Given the description of an element on the screen output the (x, y) to click on. 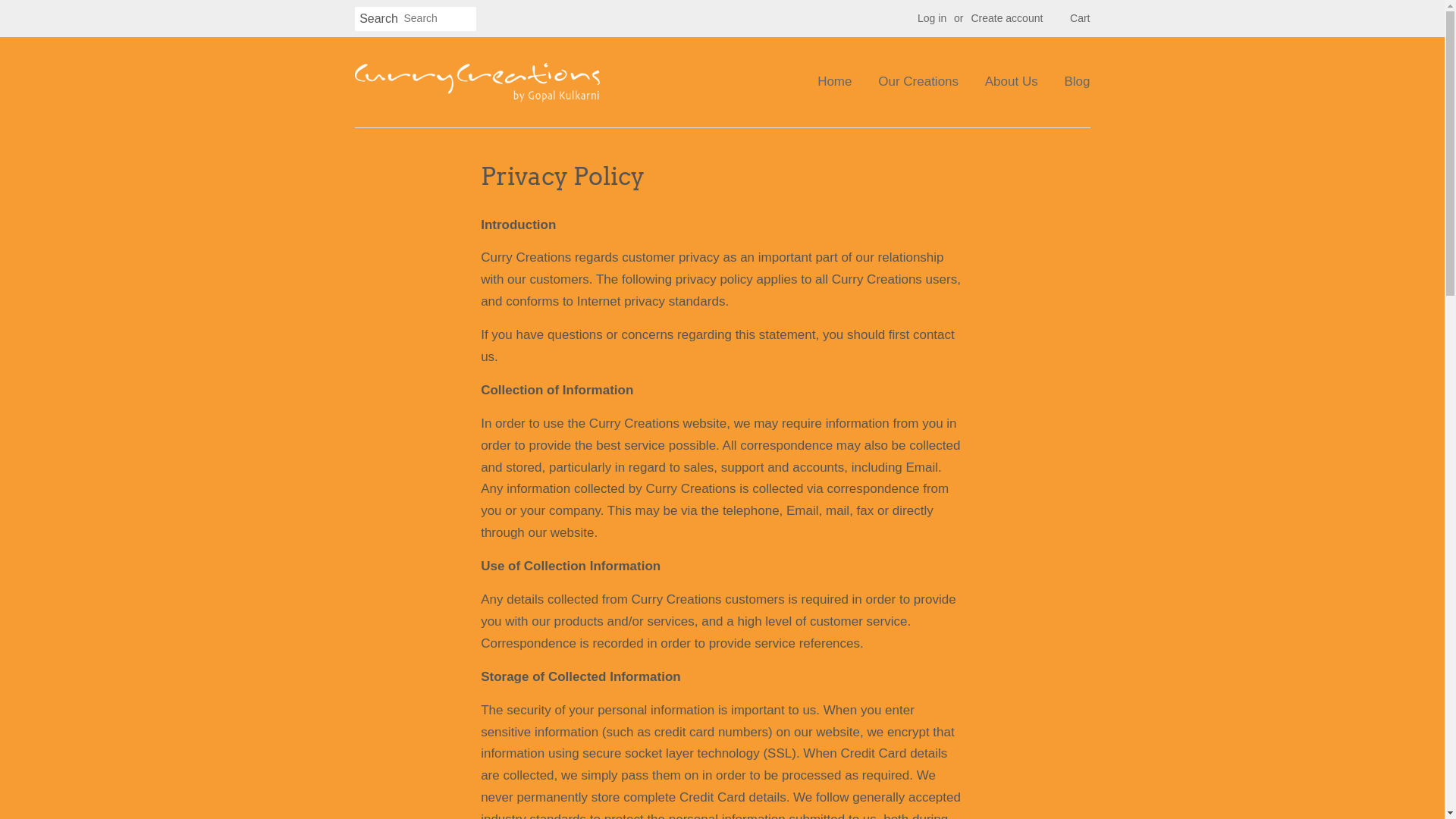
Home Element type: text (839, 81)
Search Element type: text (378, 18)
Create account Element type: text (1006, 18)
Cart Element type: text (1079, 18)
Our Creations Element type: text (917, 81)
Log in Element type: text (931, 18)
Blog Element type: text (1070, 81)
About Us Element type: text (1011, 81)
